Given the description of an element on the screen output the (x, y) to click on. 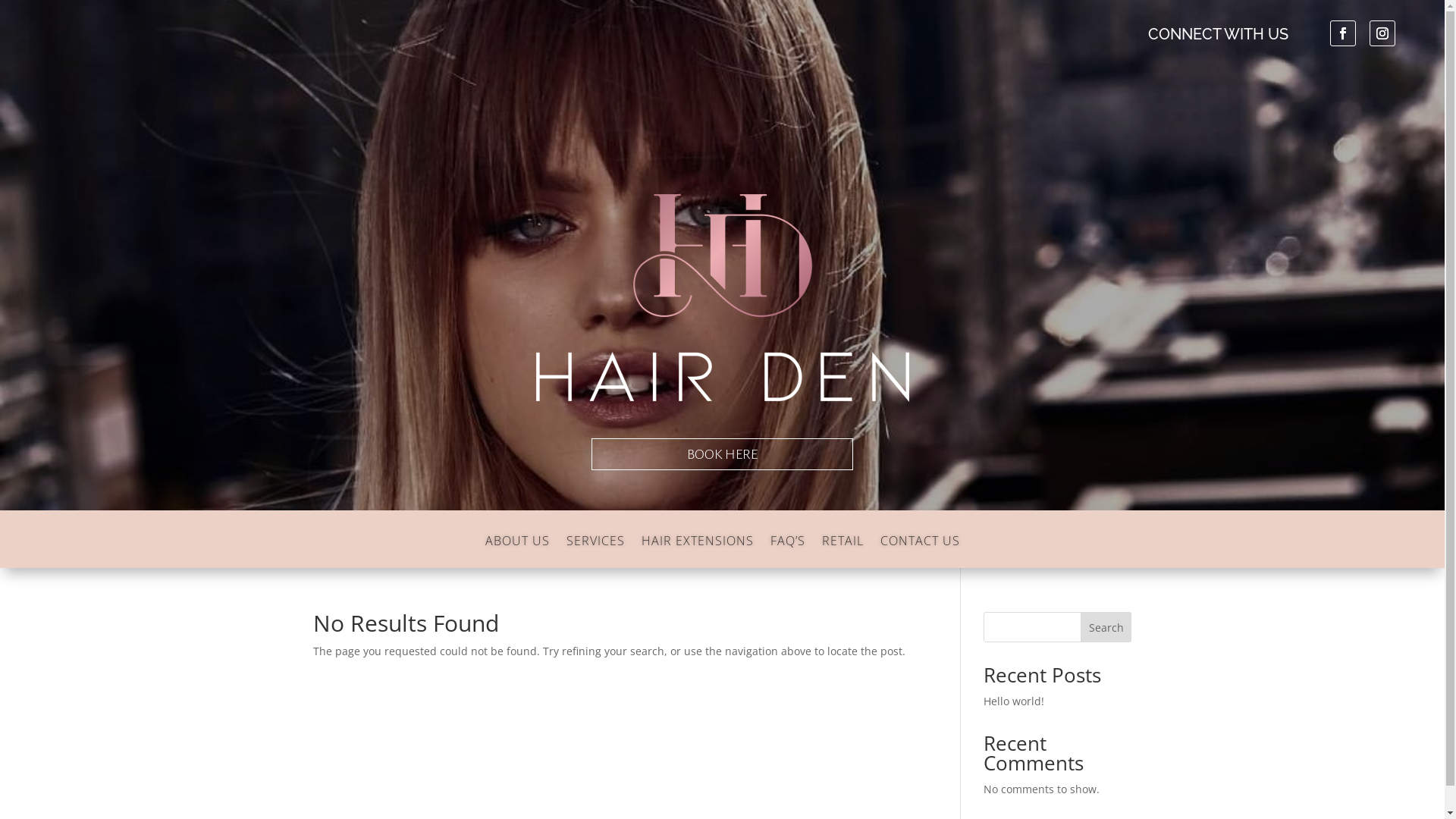
Search Element type: text (1106, 626)
Follow on Facebook Element type: hover (1342, 33)
CONTACT US Element type: text (919, 551)
RETAIL Element type: text (842, 551)
Hair-Den-g0j1 Element type: hover (721, 297)
ABOUT US Element type: text (517, 551)
Hello world! Element type: text (1013, 700)
HAIR EXTENSIONS Element type: text (697, 551)
Follow on Instagram Element type: hover (1382, 33)
SERVICES Element type: text (594, 551)
